Given the description of an element on the screen output the (x, y) to click on. 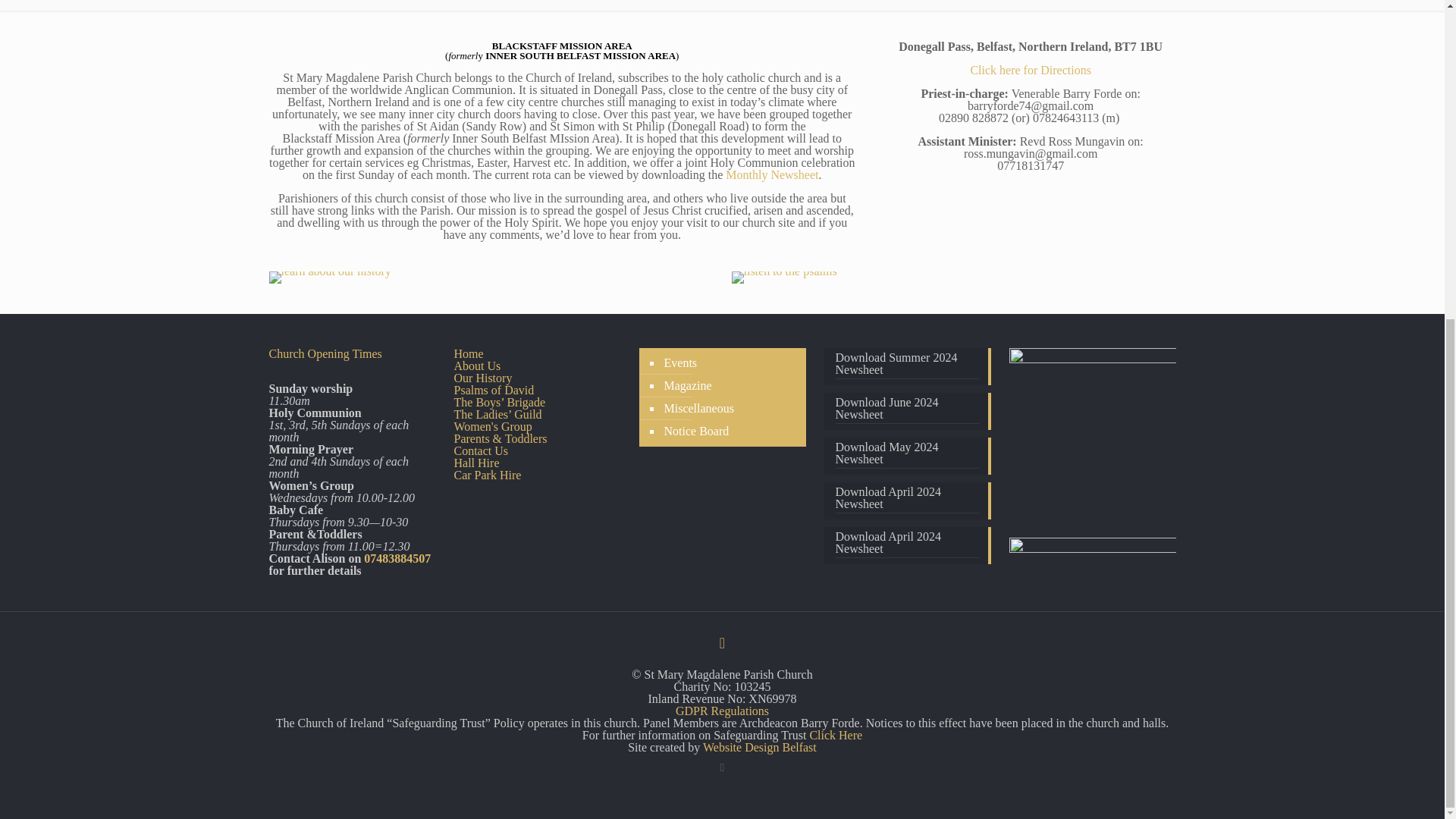
Magazine (686, 385)
Contact Us (480, 450)
Home (467, 353)
Women's Group (491, 426)
Our History (482, 377)
Psalms of David (493, 390)
Click here for Directions (1029, 69)
About Us (476, 365)
Car Park Hire (486, 474)
Facebook (722, 767)
Monthly Newsheet (771, 174)
Hall Hire (475, 462)
07483884507 (397, 558)
Events (679, 363)
